Given the description of an element on the screen output the (x, y) to click on. 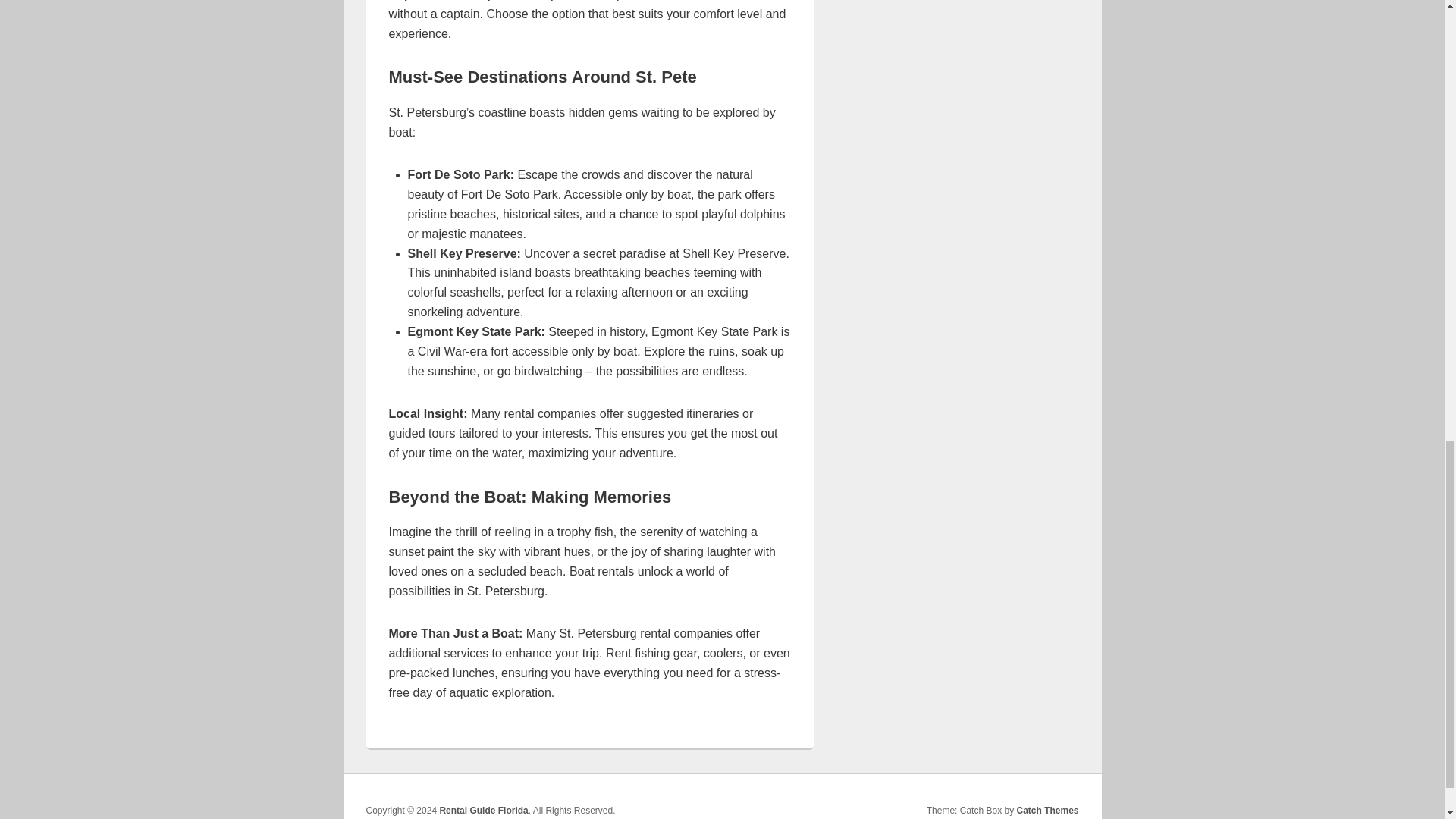
Rental Guide Florida (483, 810)
Catch Themes (1047, 810)
Catch Themes (1047, 810)
Rental Guide Florida (483, 810)
